Given the description of an element on the screen output the (x, y) to click on. 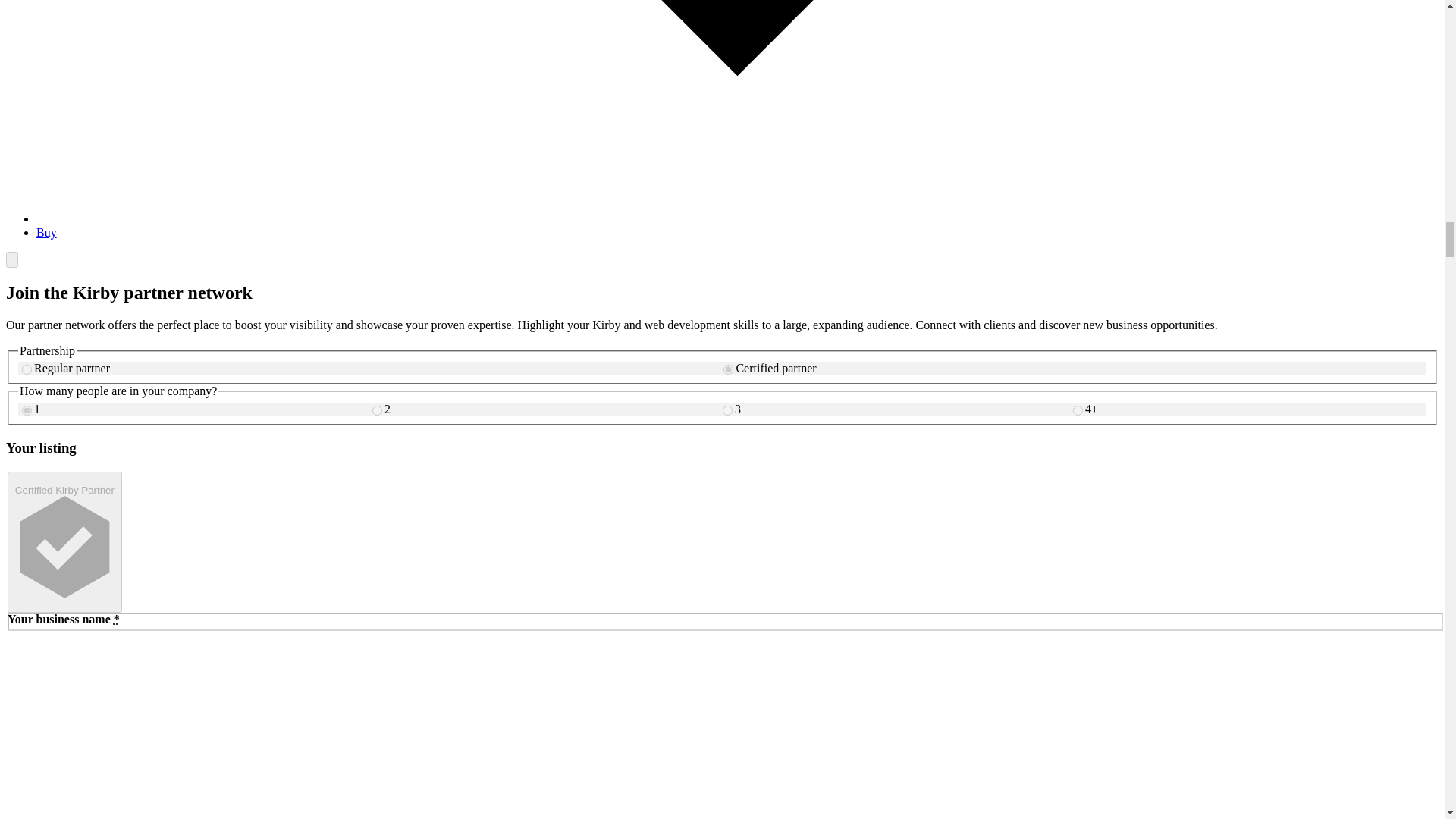
Buy (46, 232)
1 (26, 410)
certified (728, 369)
3 (727, 410)
regular (26, 369)
2 (376, 410)
